Given the description of an element on the screen output the (x, y) to click on. 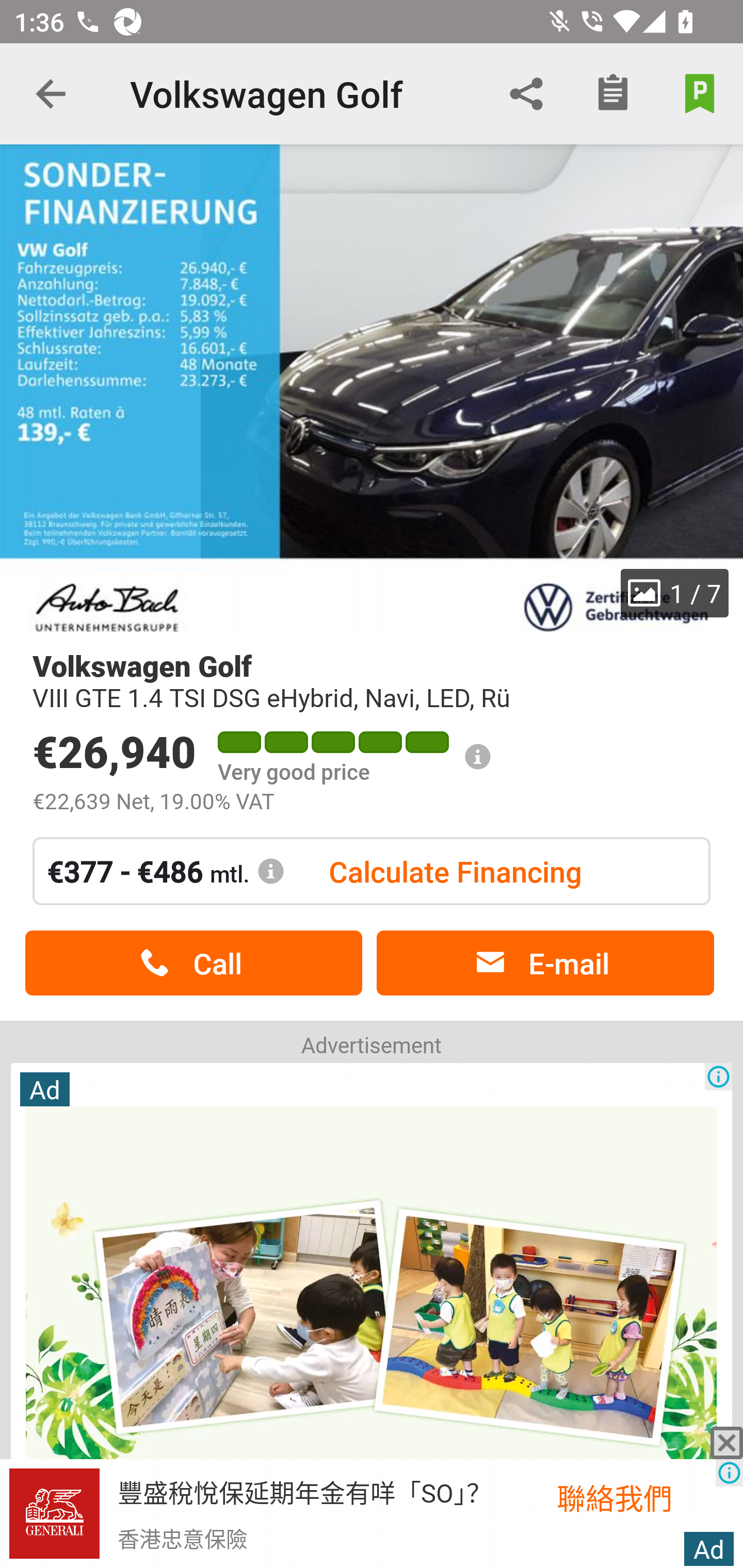
Navigate up (50, 93)
Share via (525, 93)
Checklist (612, 93)
Park (699, 93)
Calculate Financing (454, 870)
€377 - €486 mtl. (165, 870)
Call (193, 963)
E-mail (545, 963)
Ad Choices Icon (718, 1076)
豐盛稅悅保延期年金有咩「SO」？ 香港忠意保險 聯絡我們 Ad Ad Choices Icon (371, 1513)
Ad Choices Icon (729, 1472)
聯絡我們 (635, 1496)
豐盛稅悅保延期年金有咩「SO」？ (304, 1490)
香港忠意保險 (182, 1537)
